Given the description of an element on the screen output the (x, y) to click on. 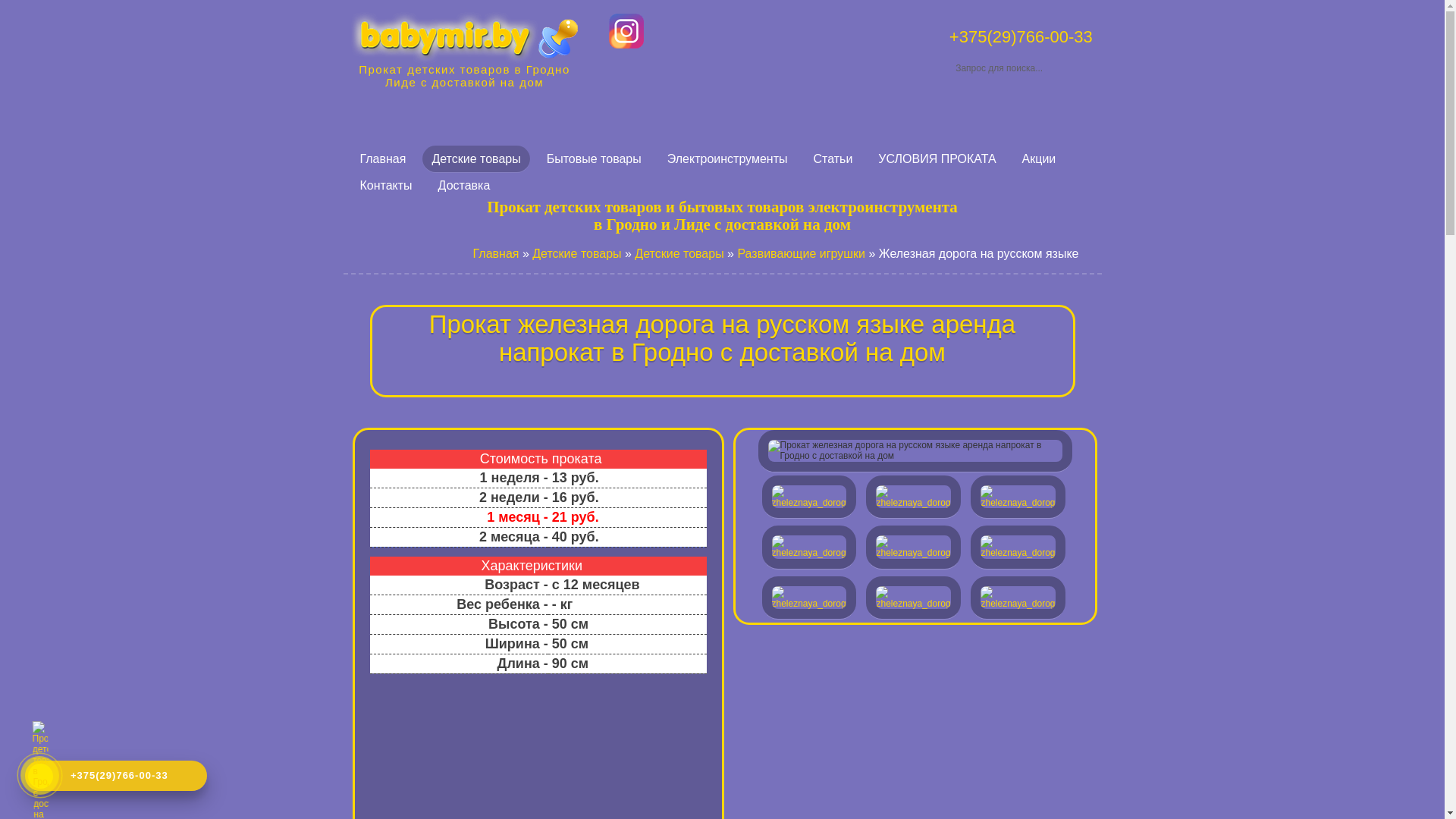
+375(29)766-00-33 Element type: text (1020, 36)
+375(29)766-00-33 Element type: text (115, 775)
